Given the description of an element on the screen output the (x, y) to click on. 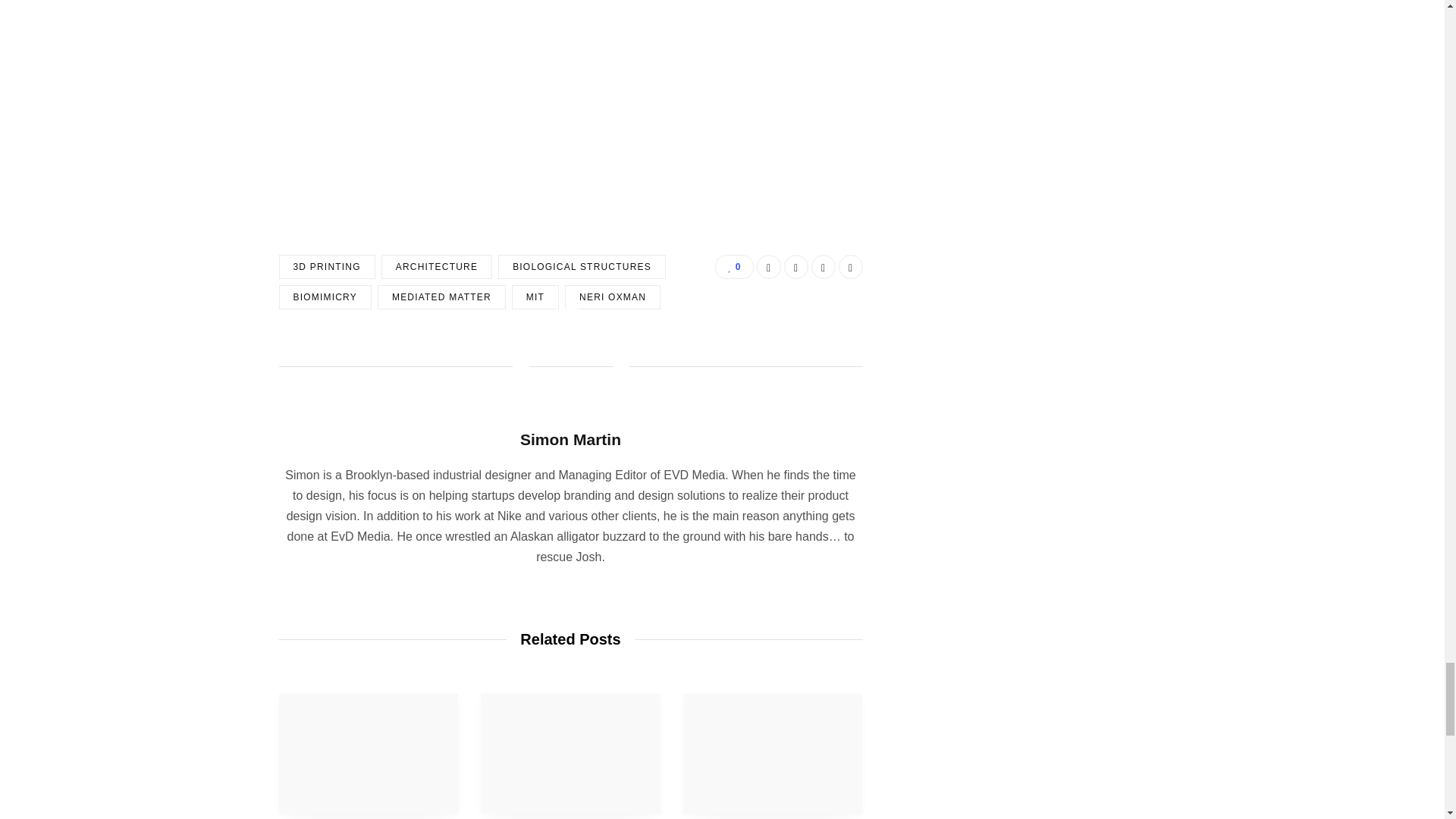
Simon Martin (570, 439)
Posts by Simon Martin (570, 439)
NERI OXMAN (612, 297)
LinkedIn (822, 266)
BIOMIMICRY (325, 297)
0 (733, 266)
BIOLOGICAL STRUCTURES (581, 266)
Pinterest (850, 266)
3D PRINTING (327, 266)
